Given the description of an element on the screen output the (x, y) to click on. 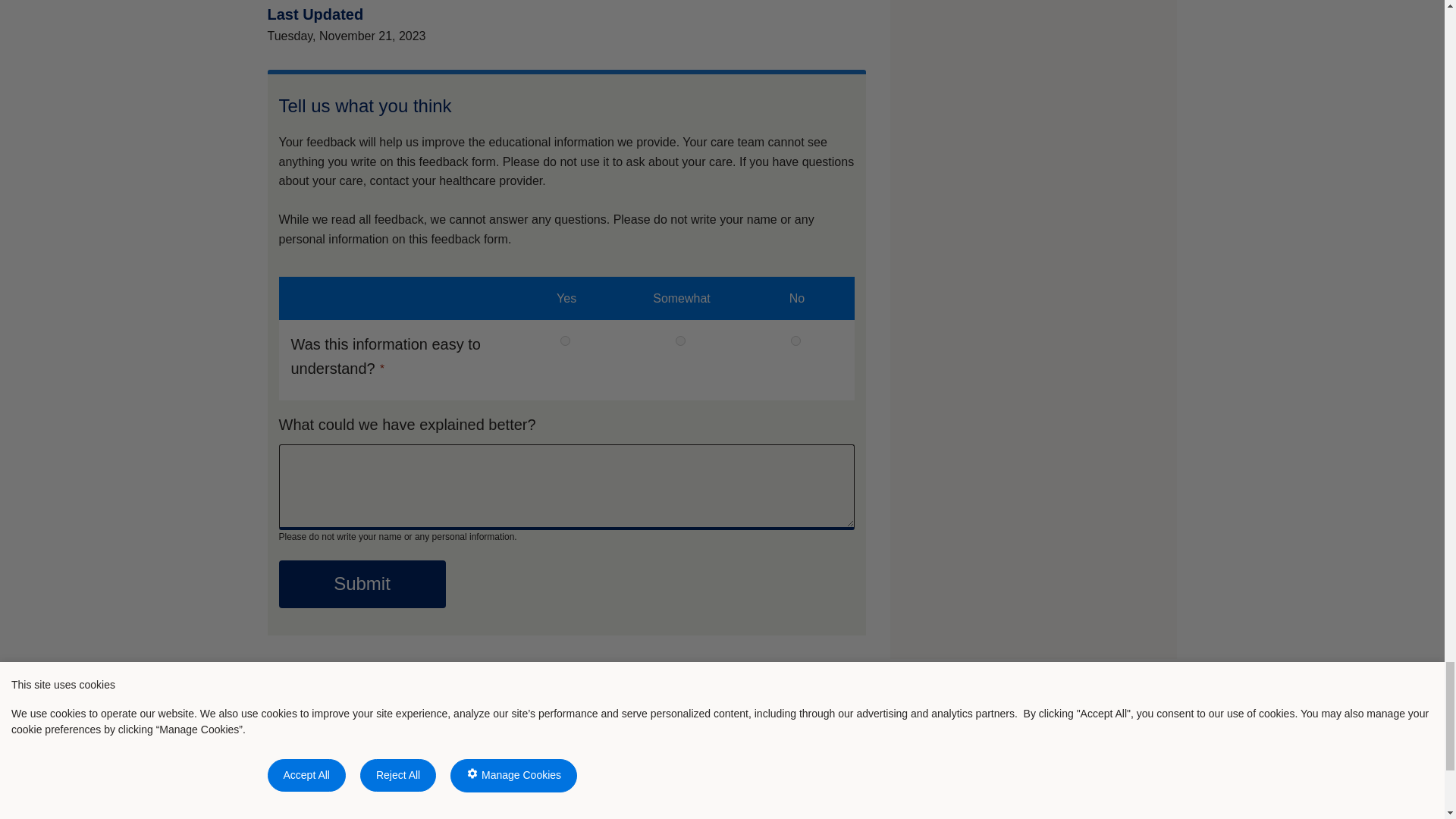
Yes (565, 340)
Submit (362, 583)
No (795, 340)
Somewhat (680, 340)
